Given the description of an element on the screen output the (x, y) to click on. 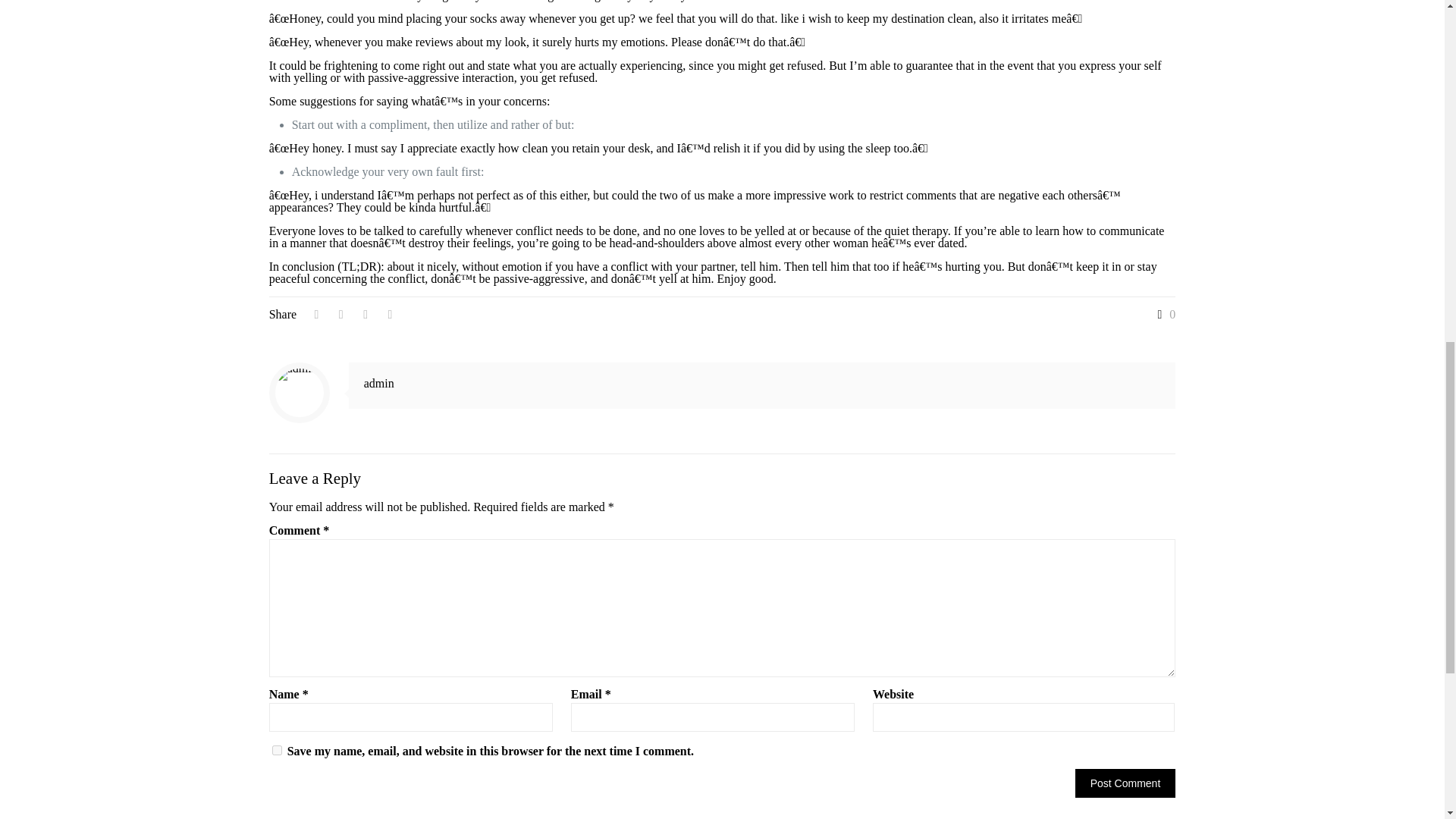
Post Comment (1125, 783)
yes (277, 750)
Post Comment (1125, 783)
0 (1162, 314)
admin (379, 382)
